Given the description of an element on the screen output the (x, y) to click on. 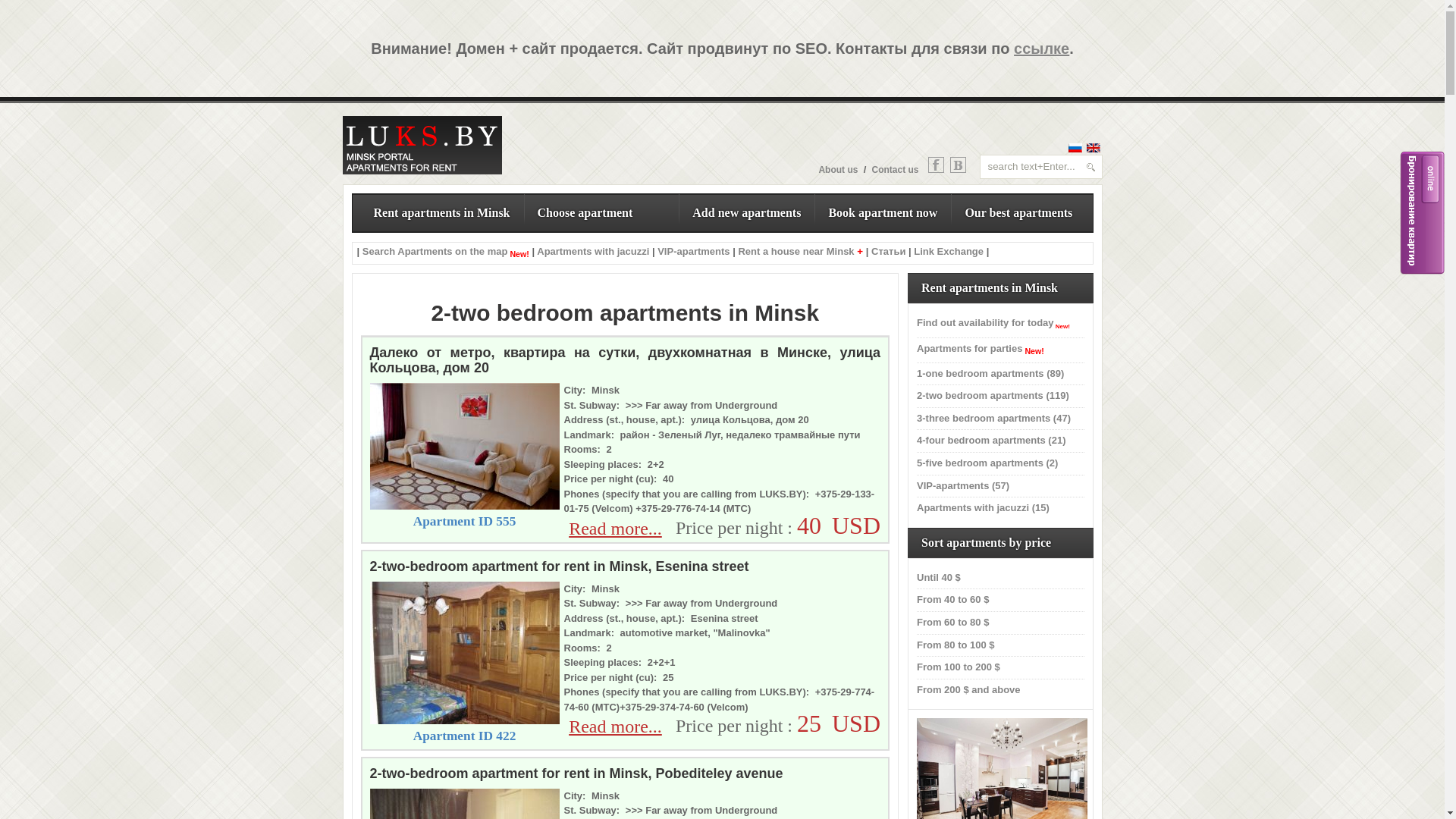
Until 40 $ Element type: text (938, 577)
3-three bedroom apartments (47) Element type: text (993, 417)
2-two-bedroom apartment for rent in Minsk, Esenina street Element type: hover (464, 720)
Our best apartments Element type: text (1017, 213)
From 40 to 60 $ Element type: text (952, 599)
1-one bedroom apartments (89) Element type: text (989, 373)
Apartments with jacuzzi (15) Element type: text (982, 507)
Apartments for parties New! Element type: text (980, 348)
Apartments with jacuzzi Element type: text (592, 251)
Rent a house near Minsk + Element type: text (801, 251)
Read more... Element type: text (615, 528)
4-four bedroom apartments (21) Element type: text (990, 439)
Russian (CIS) Element type: hover (1074, 147)
Rent apartments in Minsk Element type: text (441, 213)
From 100 to 200 $ Element type: text (958, 666)
Find out availability for today New! Element type: text (993, 322)
Choose apartment Element type: text (601, 213)
5-five bedroom apartments (2) Element type: text (986, 462)
Link Exchange Element type: text (948, 251)
From 60 to 80 $ Element type: text (952, 621)
Book apartment now Element type: text (882, 213)
English (United Kingdom) Element type: hover (1093, 147)
Search Apartments on the map New! Element type: text (445, 251)
Contact us Element type: text (894, 169)
2-two bedroom apartments (119) Element type: text (992, 395)
Add new apartments Element type: text (746, 213)
VIP-apartments (57) Element type: text (962, 485)
Read more... Element type: text (615, 726)
VIP-apartments Element type: text (693, 251)
About us Element type: text (837, 169)
From 200 $ and above Element type: text (968, 689)
From 80 to 100 $ Element type: text (955, 643)
